Given the description of an element on the screen output the (x, y) to click on. 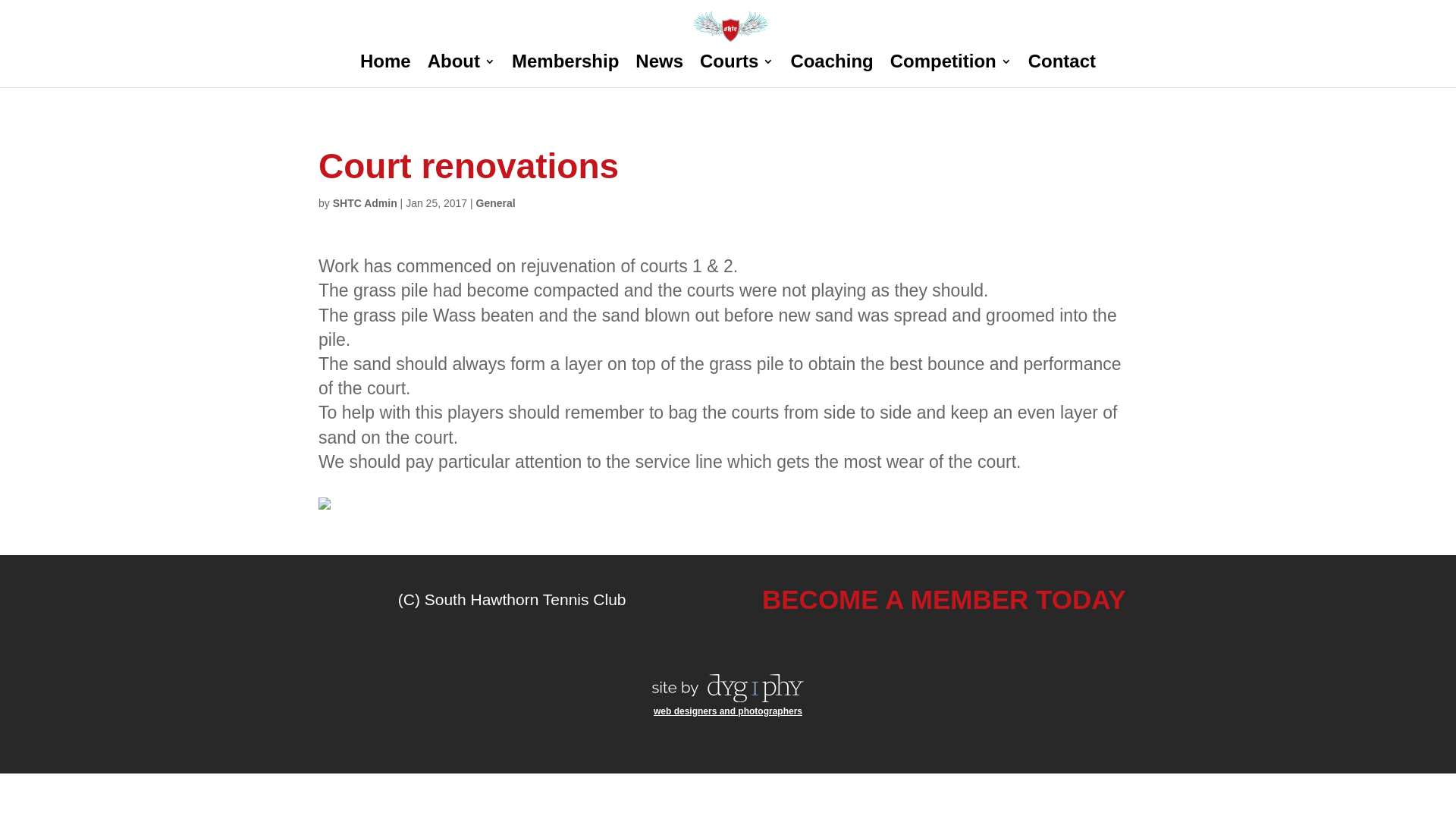
Courts Element type: text (736, 71)
About Element type: text (461, 71)
Coaching Element type: text (831, 71)
News Element type: text (659, 71)
web designers and photographers Element type: text (727, 711)
BECOME A MEMBER TODAY Element type: text (944, 599)
Competition Element type: text (950, 71)
SHTC Admin Element type: text (364, 203)
General Element type: text (495, 203)
Contact Element type: text (1061, 71)
Home Element type: text (385, 71)
Membership Element type: text (564, 71)
